Given the description of an element on the screen output the (x, y) to click on. 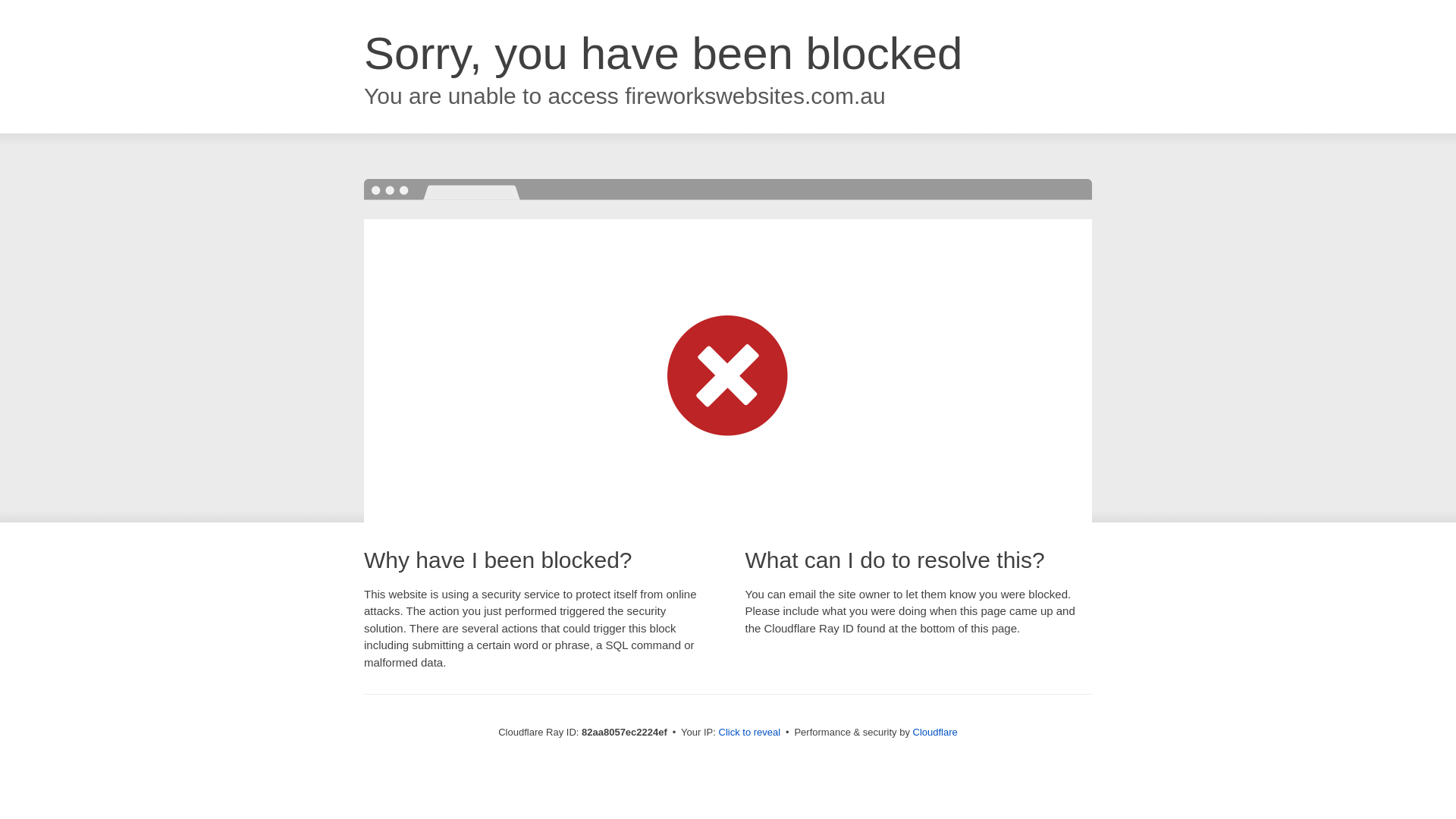
Cloudflare Element type: text (935, 731)
Click to reveal Element type: text (749, 732)
